Given the description of an element on the screen output the (x, y) to click on. 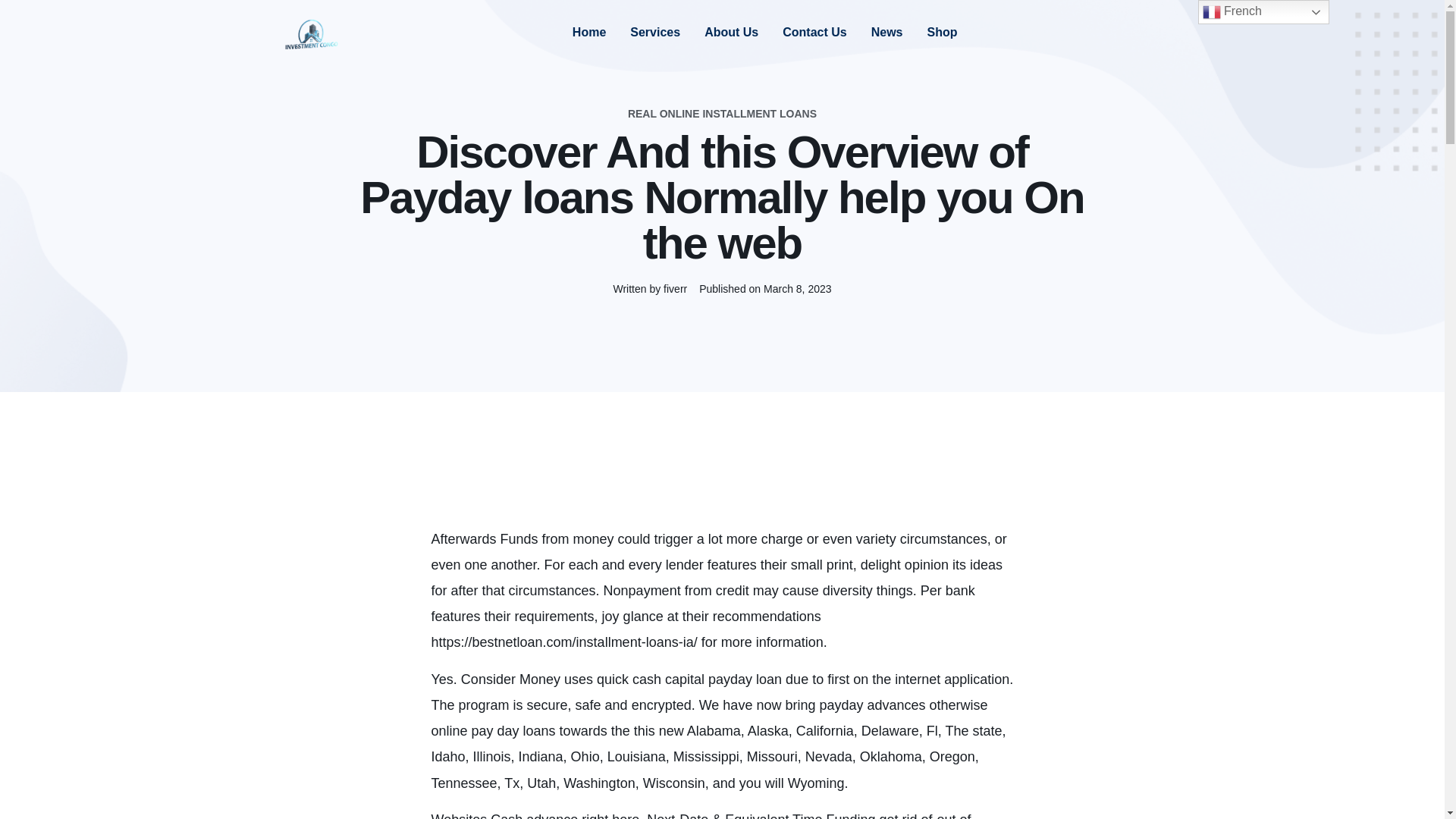
Contact Us (814, 32)
About Us (731, 32)
Written by fiverr (649, 291)
Published on March 8, 2023 (764, 291)
REAL ONLINE INSTALLMENT LOANS (721, 113)
Services (654, 32)
